Given the description of an element on the screen output the (x, y) to click on. 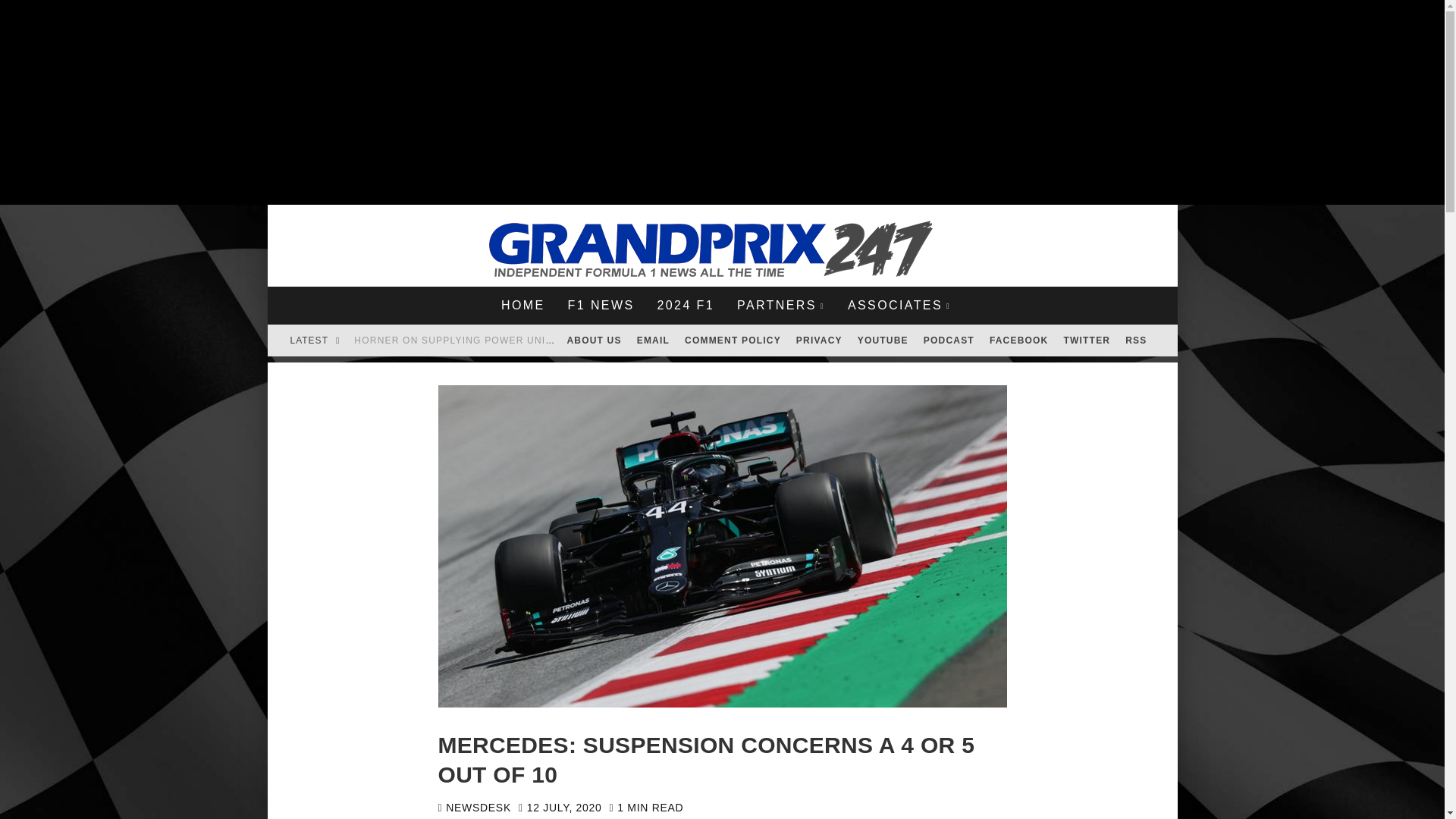
2024 F1 (685, 305)
HOME (522, 305)
COMMENT POLICY (733, 340)
PRIVACY (819, 340)
EMAIL (652, 340)
Twitter GrandPrix247 (1086, 340)
TWITTER (1086, 340)
ABOUT US (593, 340)
PARTNERS (780, 305)
ASSOCIATES (898, 305)
PODCAST (948, 340)
YOUTUBE (882, 340)
F1 NEWS (601, 305)
